Given the description of an element on the screen output the (x, y) to click on. 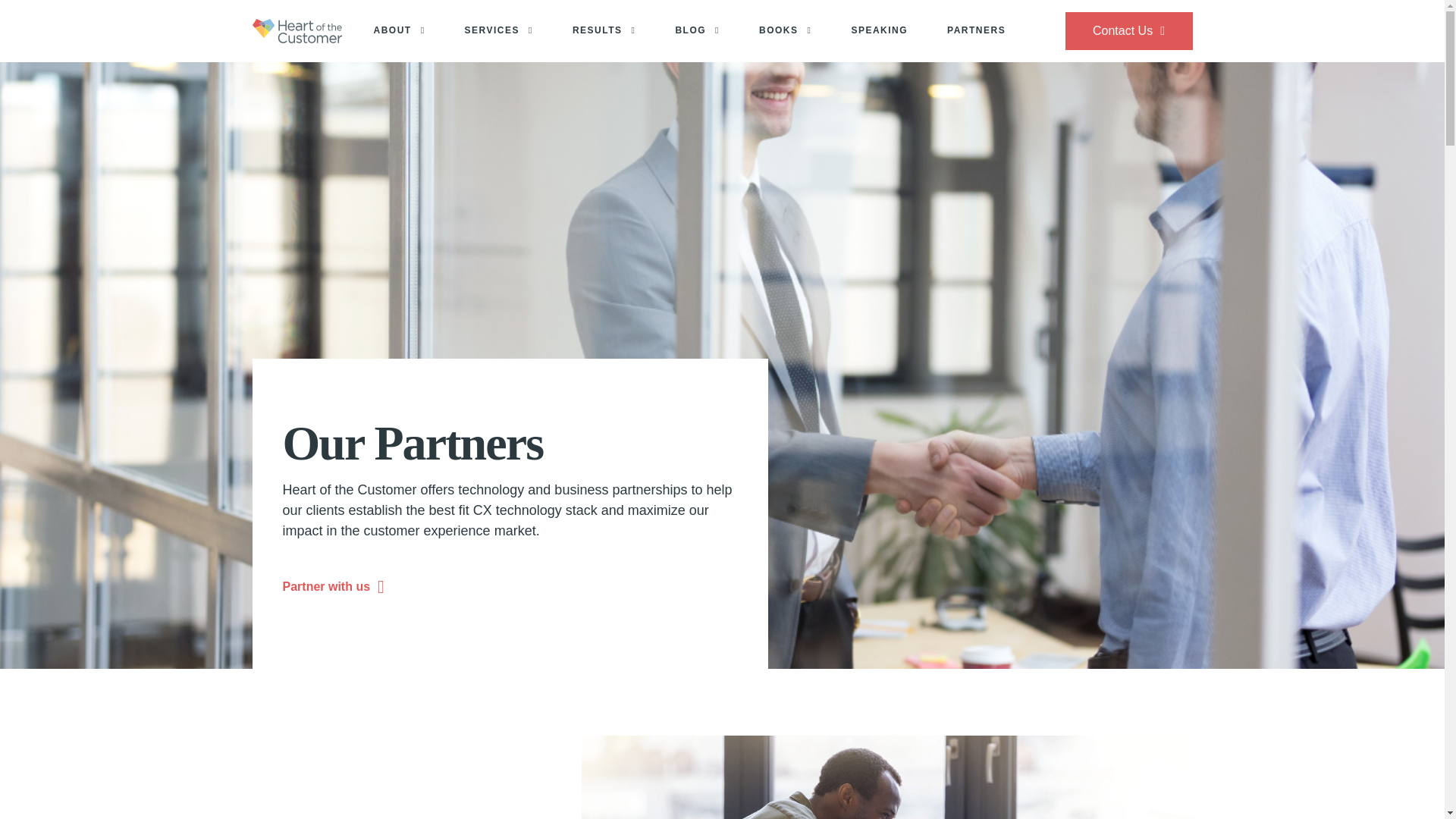
PARTNERS (975, 30)
Contact Us (1128, 30)
Partner with us (333, 586)
SPEAKING (878, 30)
